Given the description of an element on the screen output the (x, y) to click on. 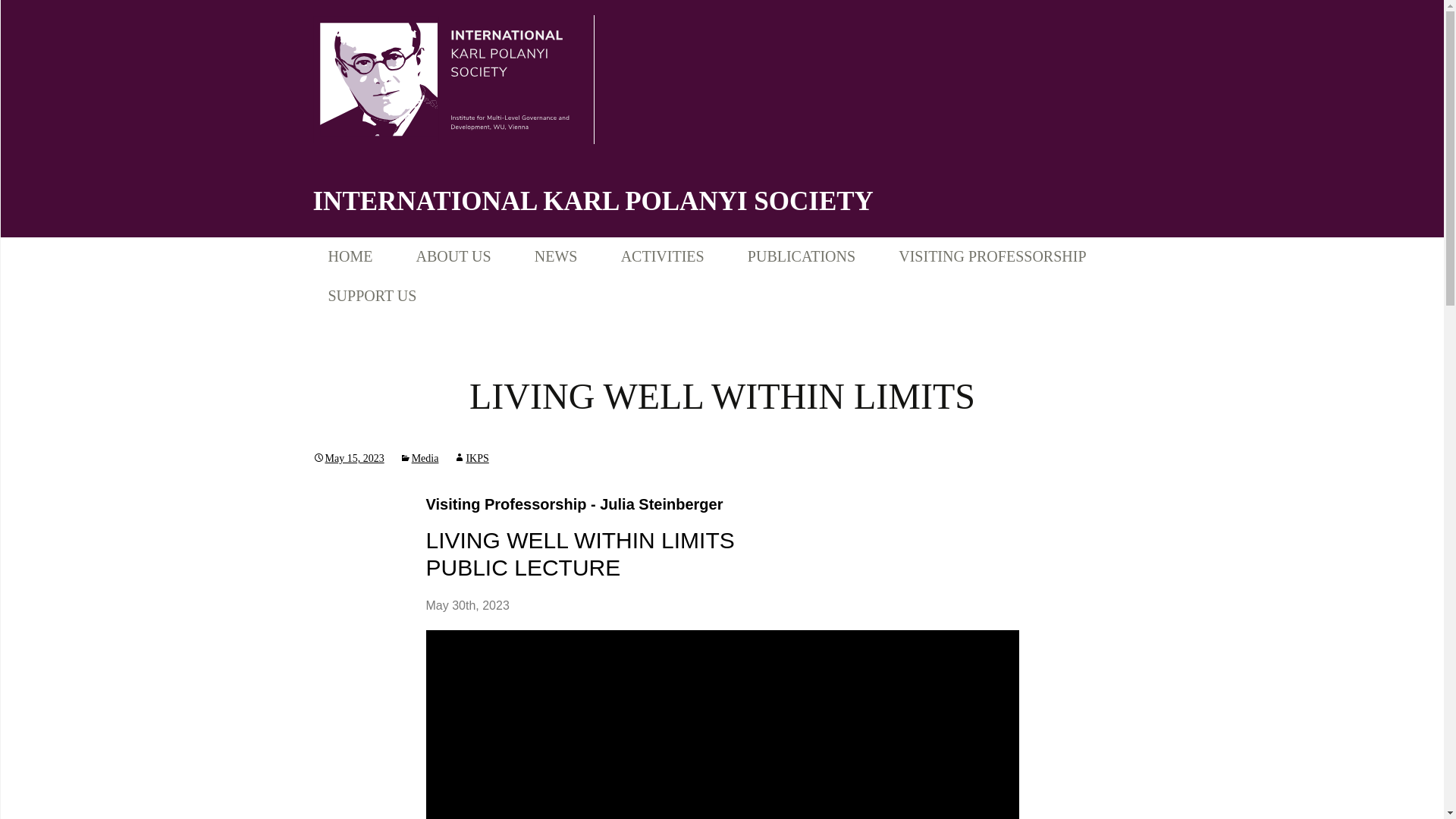
About Us (496, 294)
HOME (350, 256)
ABOUT US (453, 256)
View all posts by IKPS (469, 458)
PUBLICATIONS (801, 256)
NEWS (555, 256)
youtube Video Player (722, 724)
ACTIVITIES (662, 256)
Fall Webinar Series (699, 294)
Permalink to Living Well Within Limits (348, 458)
